Given the description of an element on the screen output the (x, y) to click on. 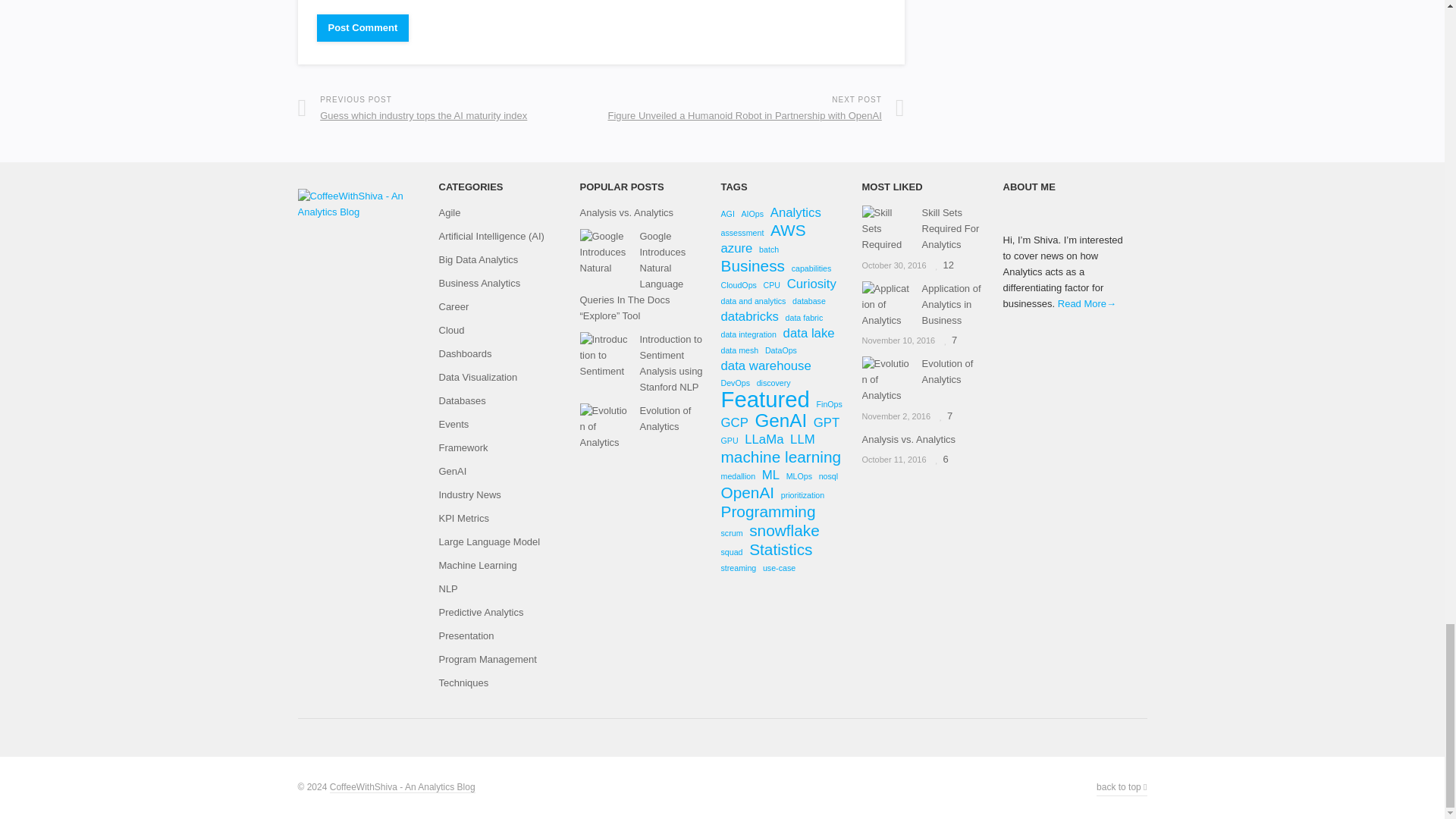
Post Comment (363, 27)
Like this (949, 339)
Like this (944, 265)
Like this (945, 415)
